Given the description of an element on the screen output the (x, y) to click on. 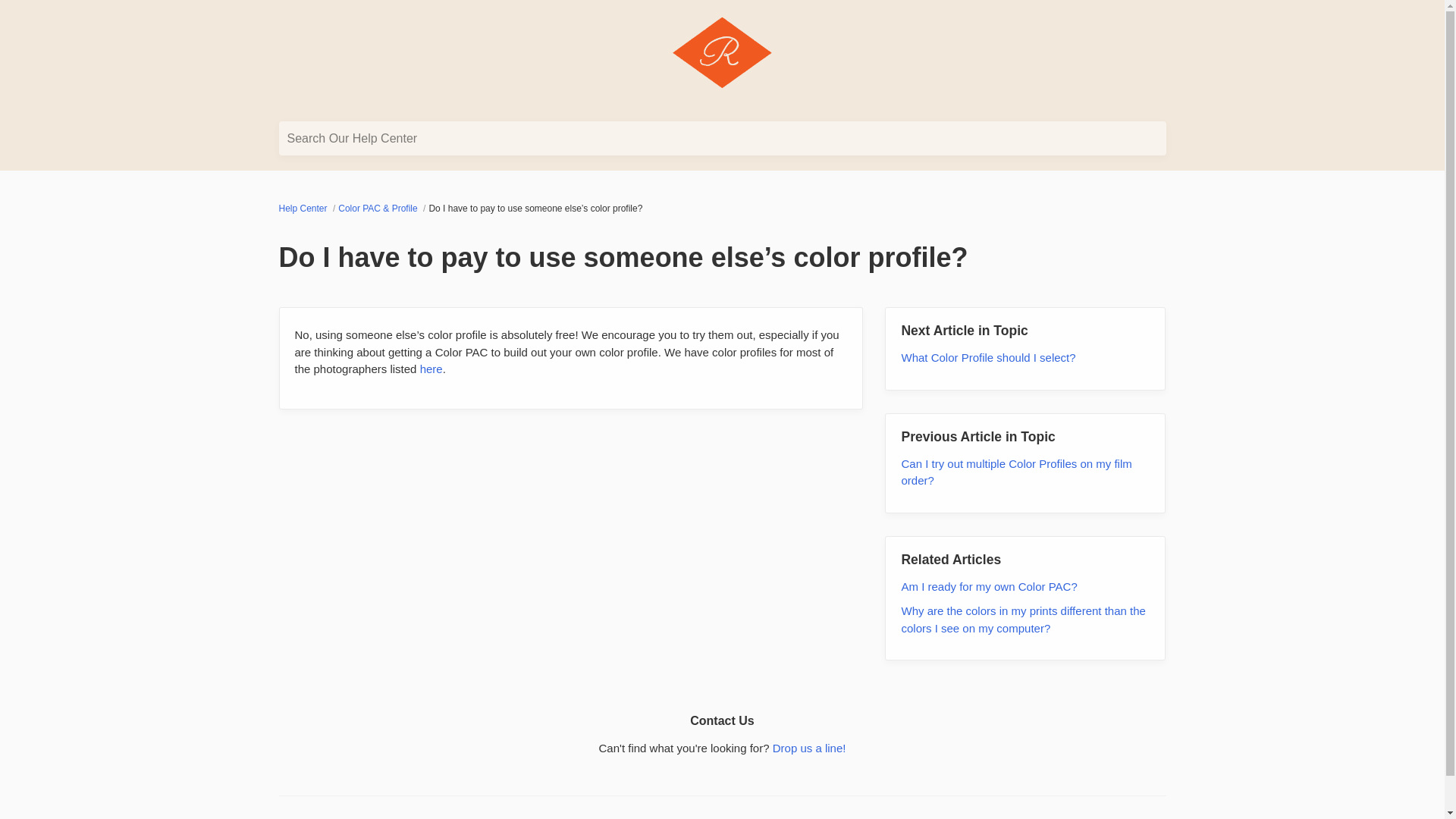
Am I ready for my own Color PAC? (989, 585)
What Color Profile should I select? (988, 357)
Can I try out multiple Color Profiles on my film order? (1016, 471)
here (431, 368)
Help Center (304, 208)
Drop us a line! (809, 748)
